Given the description of an element on the screen output the (x, y) to click on. 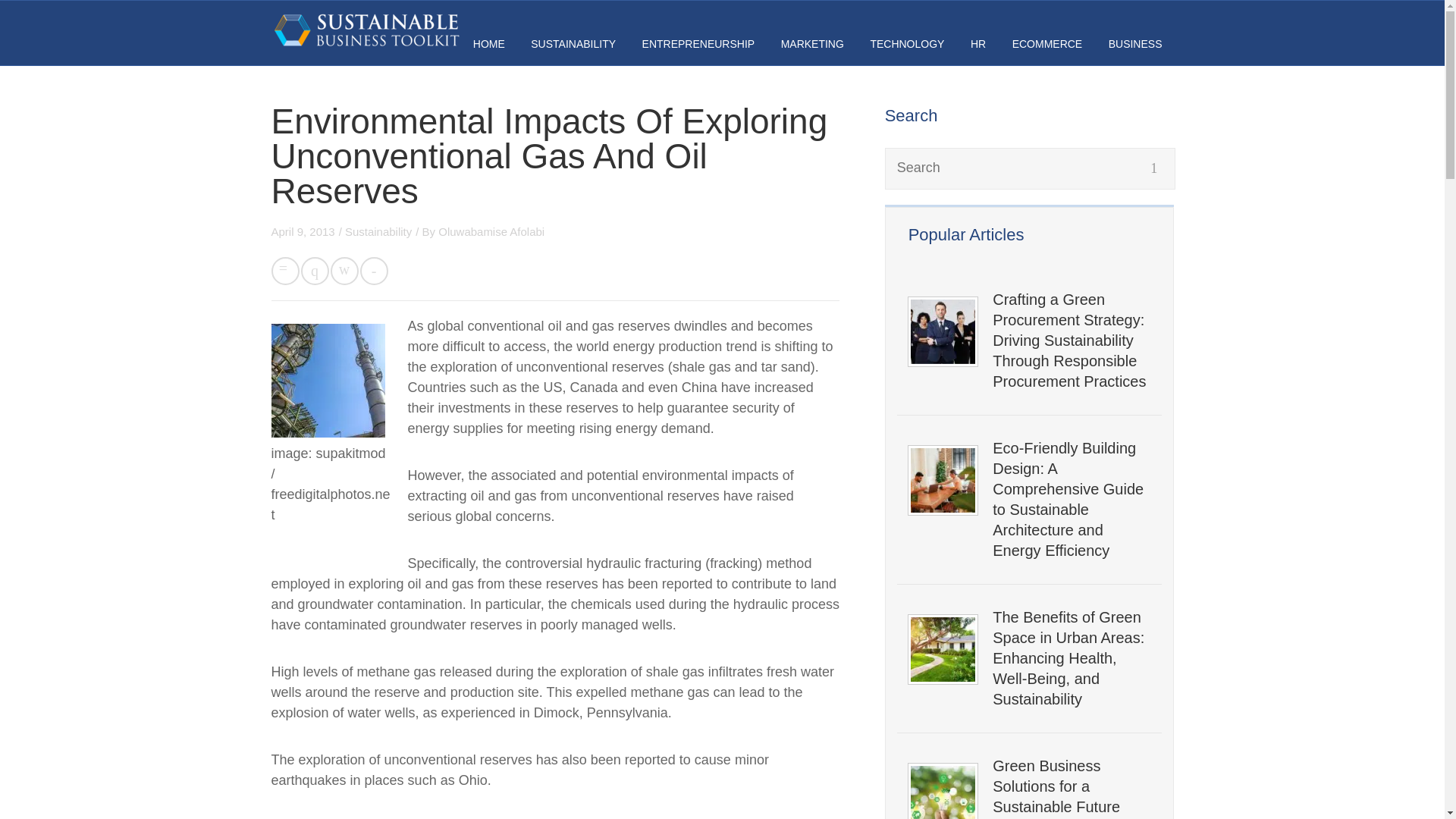
ENTREPRENEURSHIP (698, 43)
MARKETING (812, 43)
Green Business Solutions for a Sustainable Future (1071, 786)
HR (978, 43)
HOME (489, 43)
BUSINESS (1134, 43)
SUSTAINABILITY (573, 43)
ECOMMERCE (1047, 43)
